Given the description of an element on the screen output the (x, y) to click on. 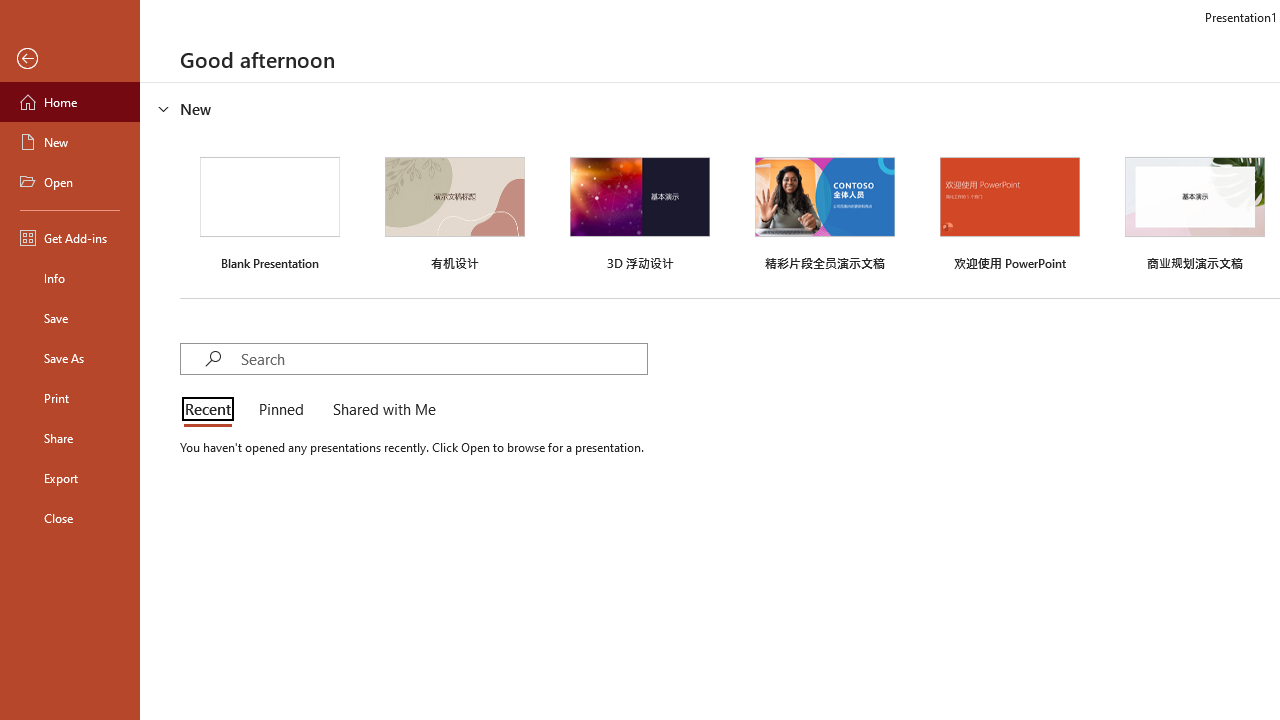
Save As (69, 357)
Hide or show region (164, 108)
Back (69, 59)
Info (69, 277)
Export (69, 477)
Recent (212, 410)
Get Add-ins (69, 237)
Shared with Me (379, 410)
Blank Presentation (269, 211)
